Given the description of an element on the screen output the (x, y) to click on. 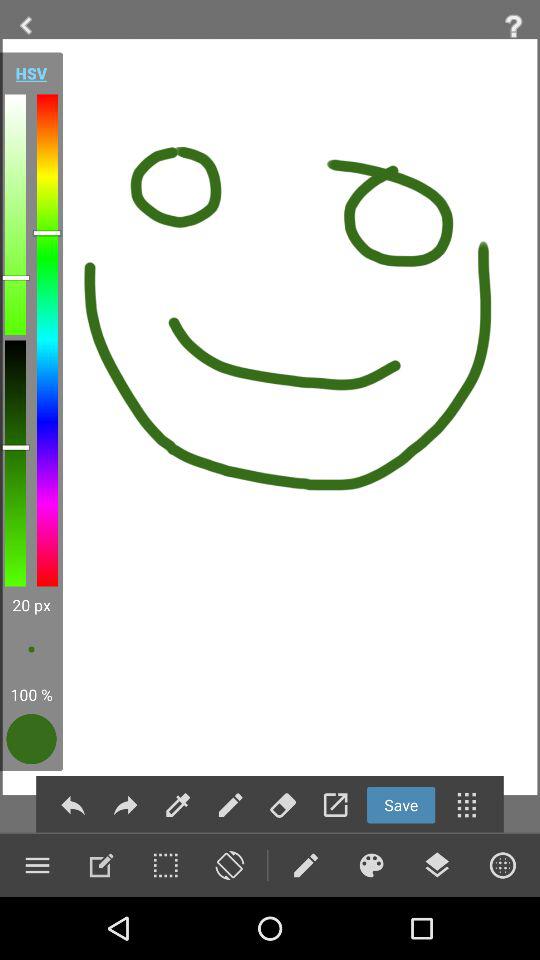
go back (72, 804)
